Given the description of an element on the screen output the (x, y) to click on. 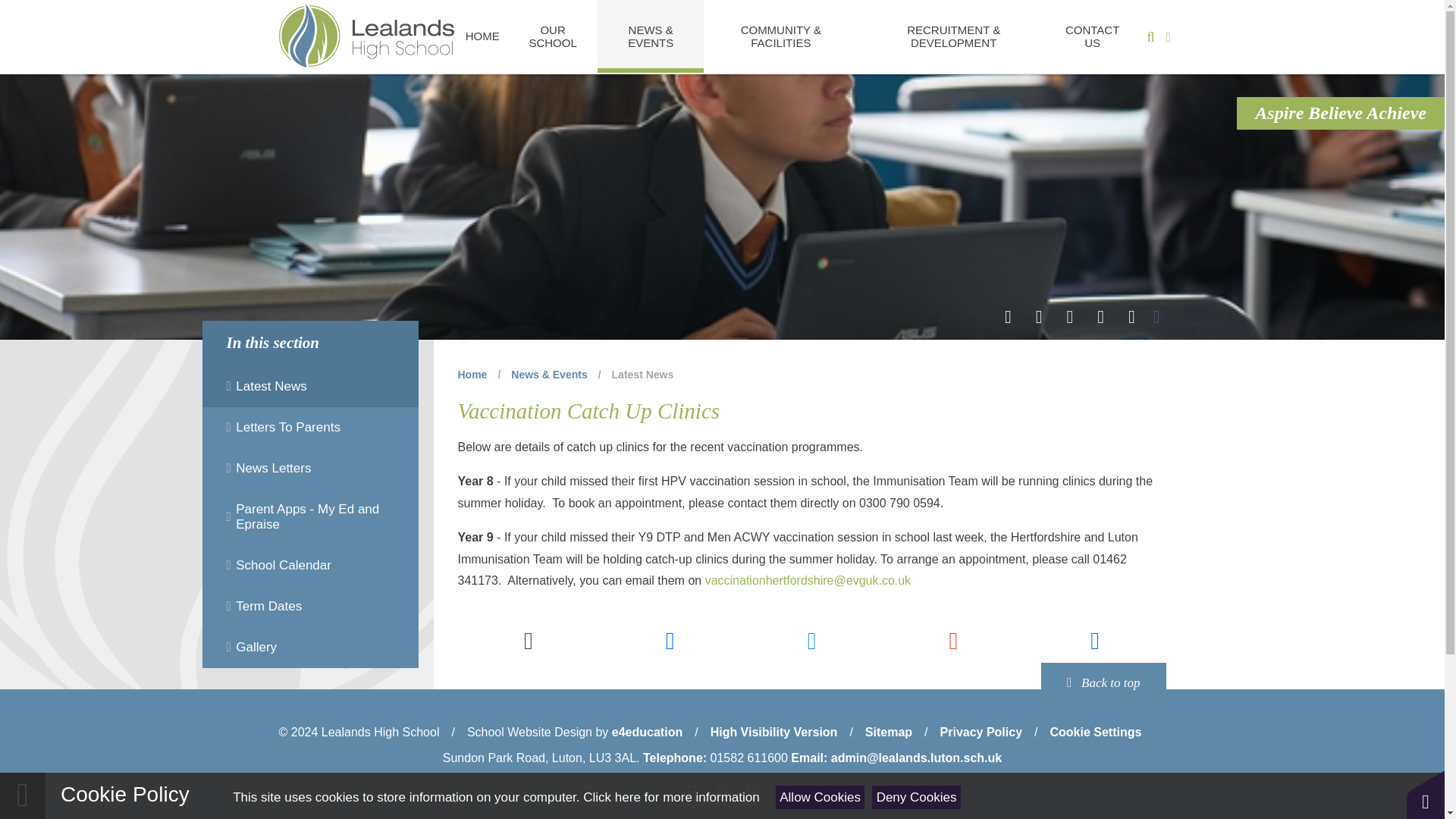
See cookie policy (670, 797)
Allow Cookies (820, 797)
Deny Cookies (915, 797)
OUR SCHOOL (552, 36)
Cookie Settings (1095, 731)
e4education (646, 731)
